Given the description of an element on the screen output the (x, y) to click on. 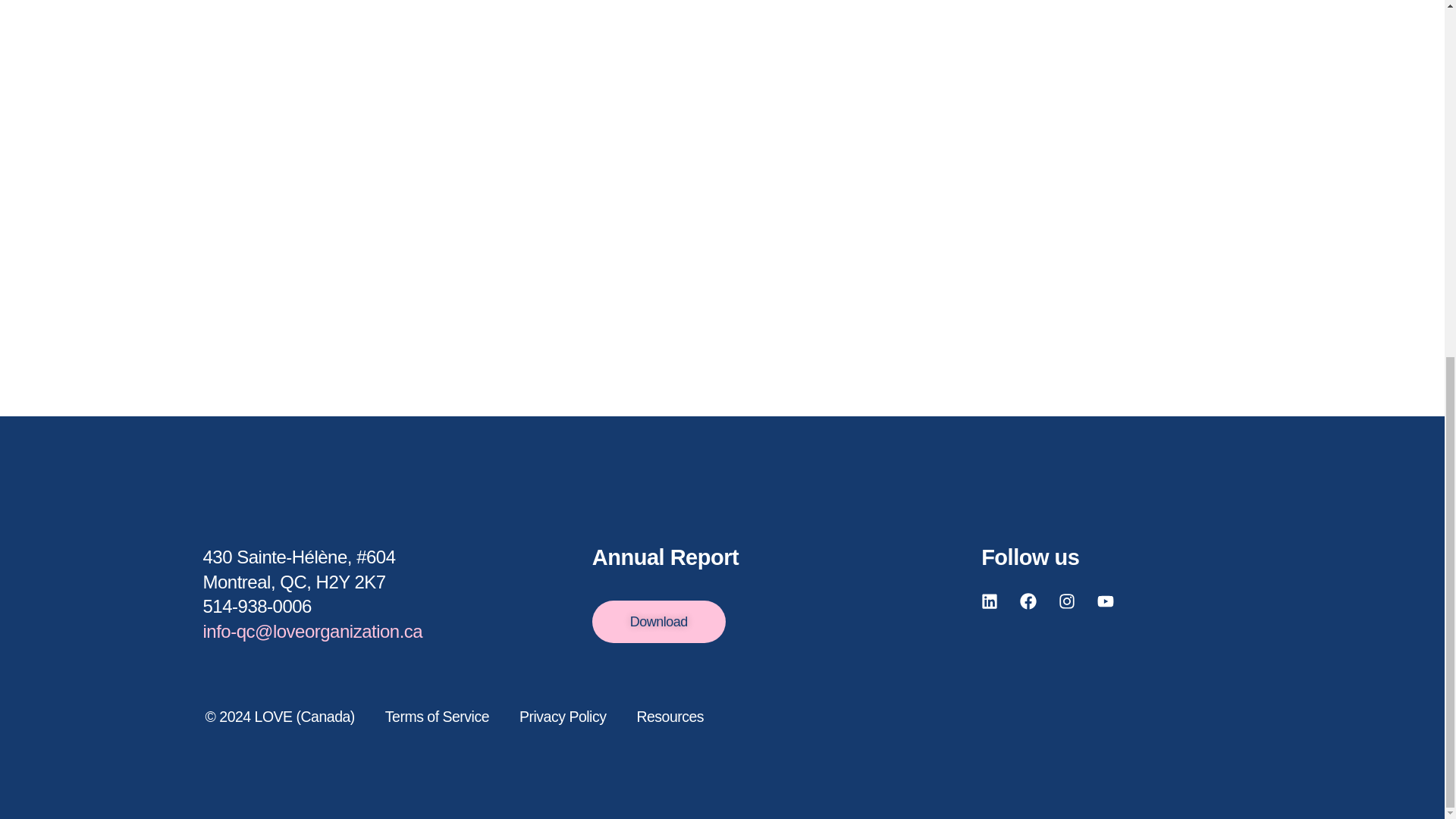
514-938-0006 (257, 606)
Privacy Policy (562, 716)
Download (658, 621)
Resources (670, 716)
Terms of Service (436, 716)
